Given the description of an element on the screen output the (x, y) to click on. 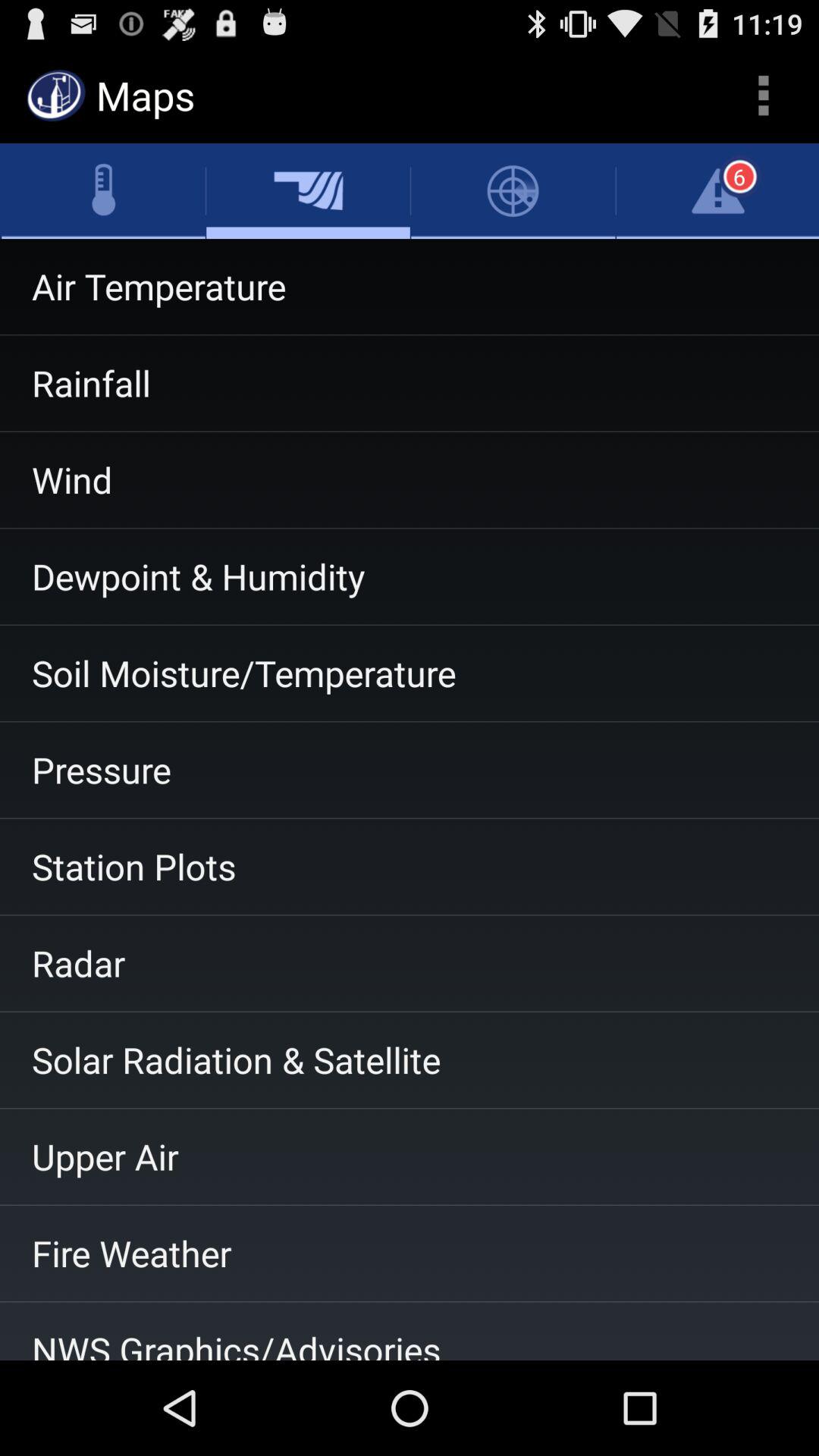
swipe to the rainfall icon (409, 383)
